Given the description of an element on the screen output the (x, y) to click on. 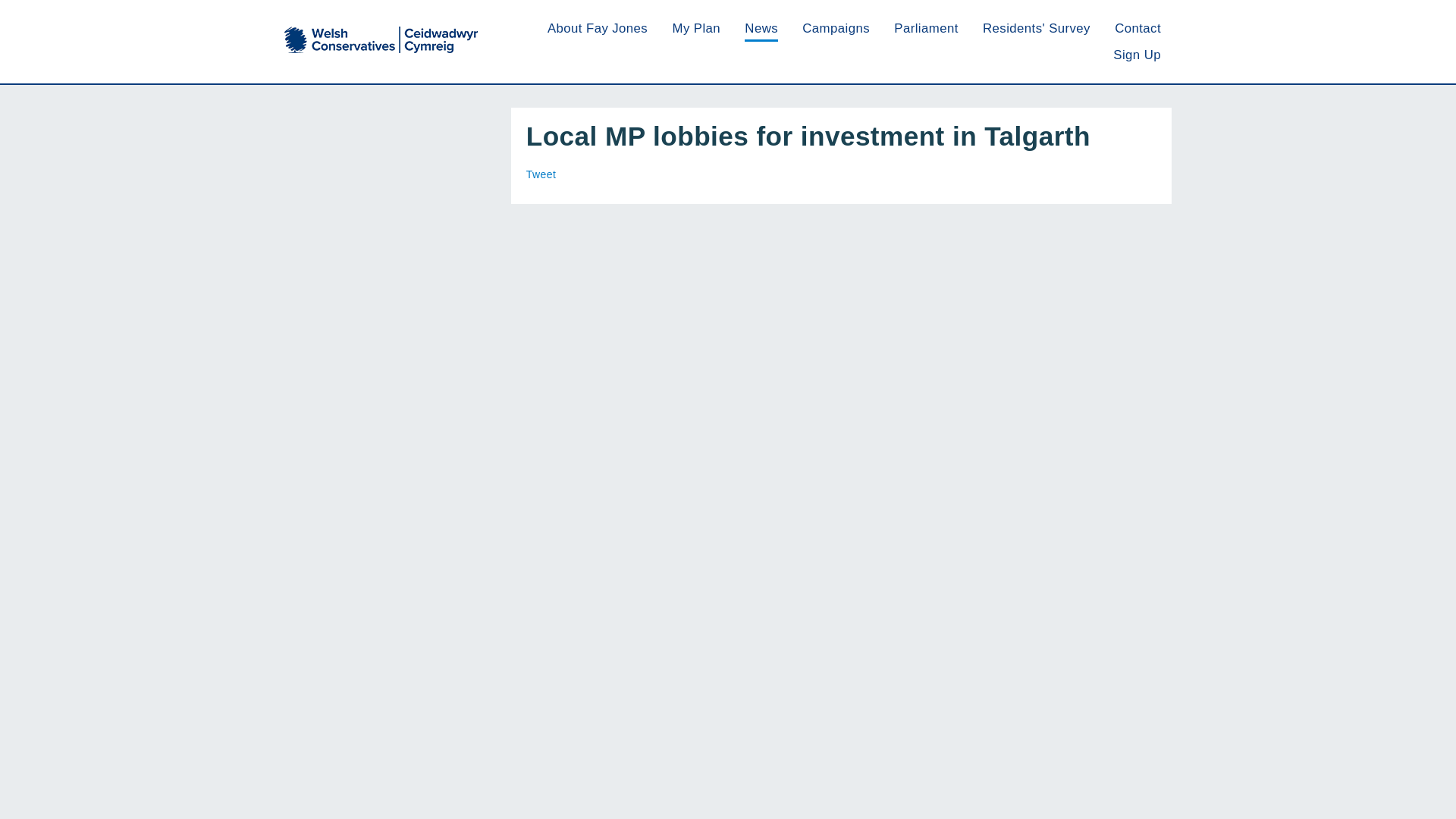
Campaigns (835, 28)
Parliament (925, 28)
Sign Up (1136, 54)
My Plan (695, 28)
Tweet (540, 174)
About Fay Jones (597, 28)
Residents' Survey (1036, 28)
My Plan Survey (695, 28)
